Given the description of an element on the screen output the (x, y) to click on. 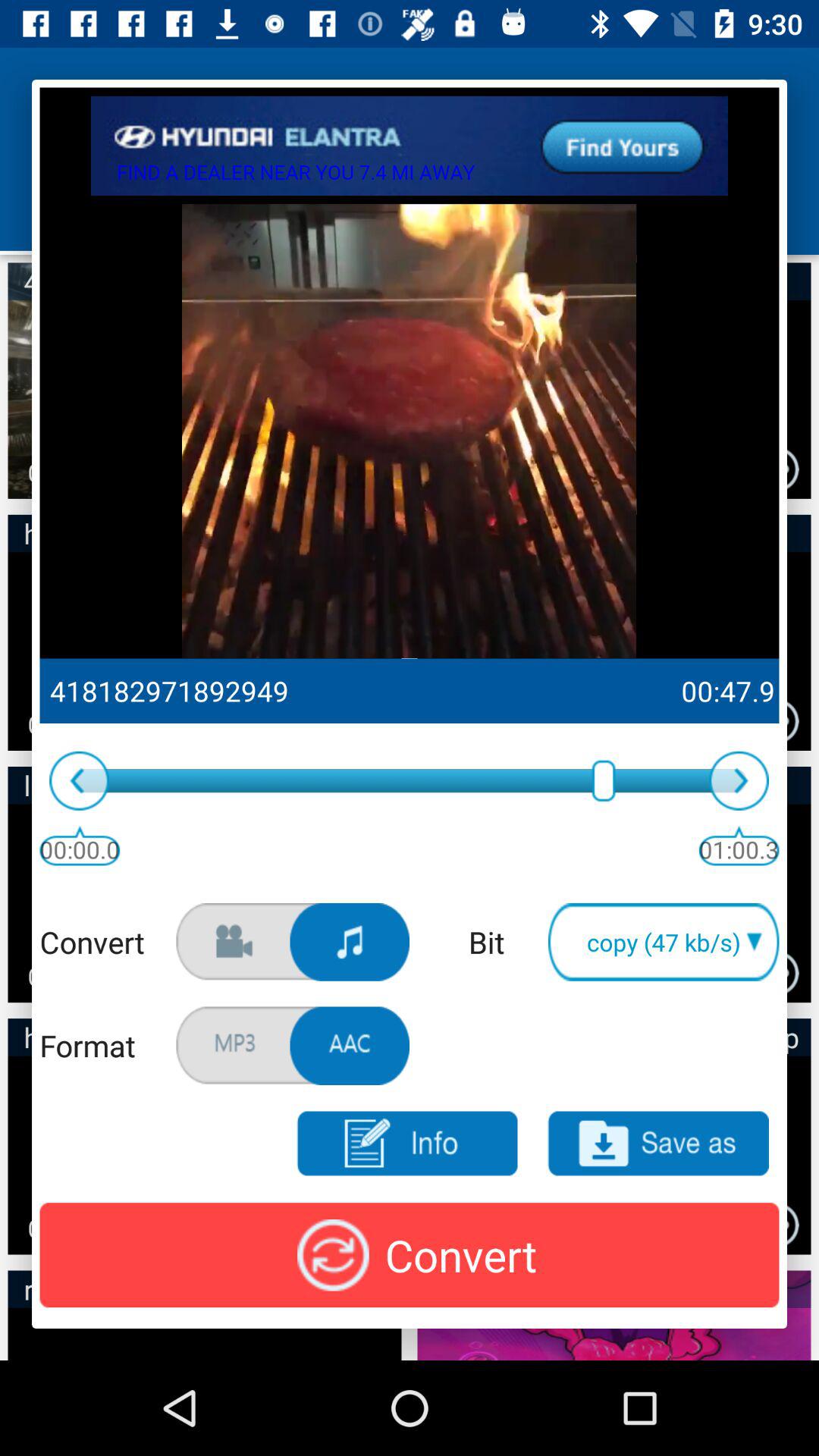
song covernt mp3 (349, 942)
